Given the description of an element on the screen output the (x, y) to click on. 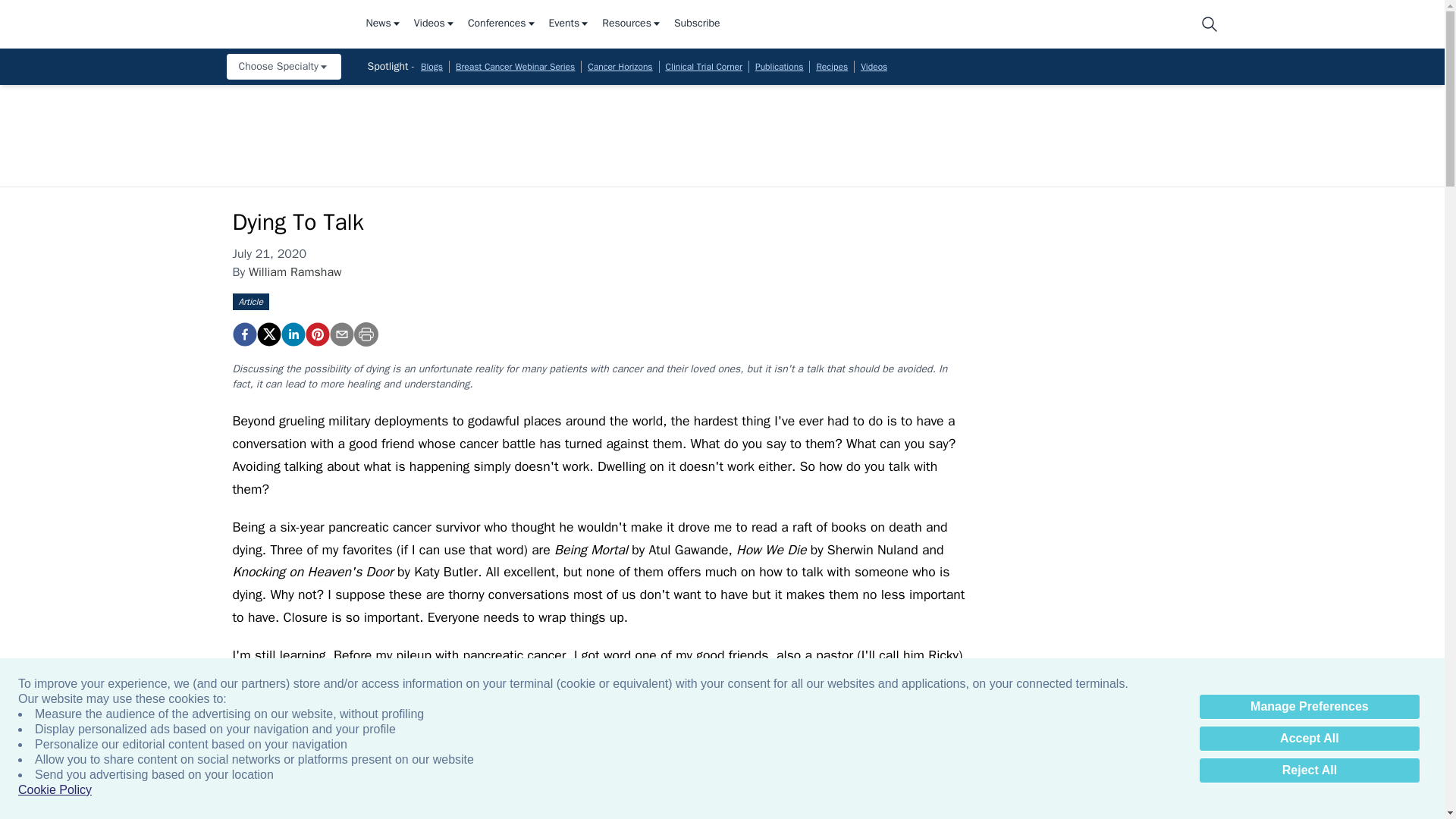
Cookie Policy (54, 789)
Resources (632, 23)
Dying To Talk (316, 334)
Conferences (502, 23)
Manage Preferences (1309, 706)
Accept All (1309, 738)
Reject All (1309, 769)
News (383, 23)
Events (569, 23)
Dying To Talk (243, 334)
Videos (434, 23)
